Given the description of an element on the screen output the (x, y) to click on. 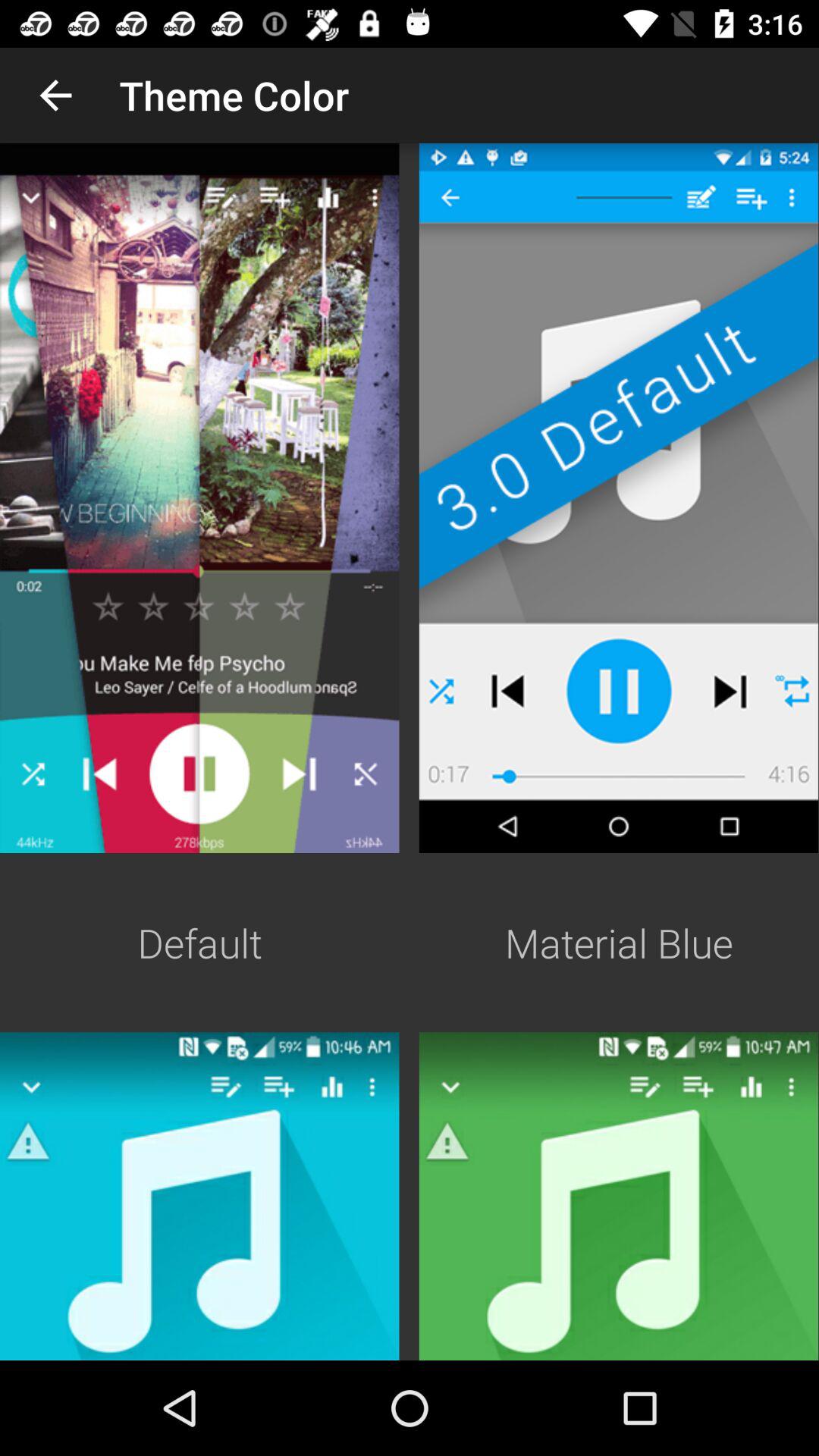
choose the app next to theme color app (55, 95)
